Given the description of an element on the screen output the (x, y) to click on. 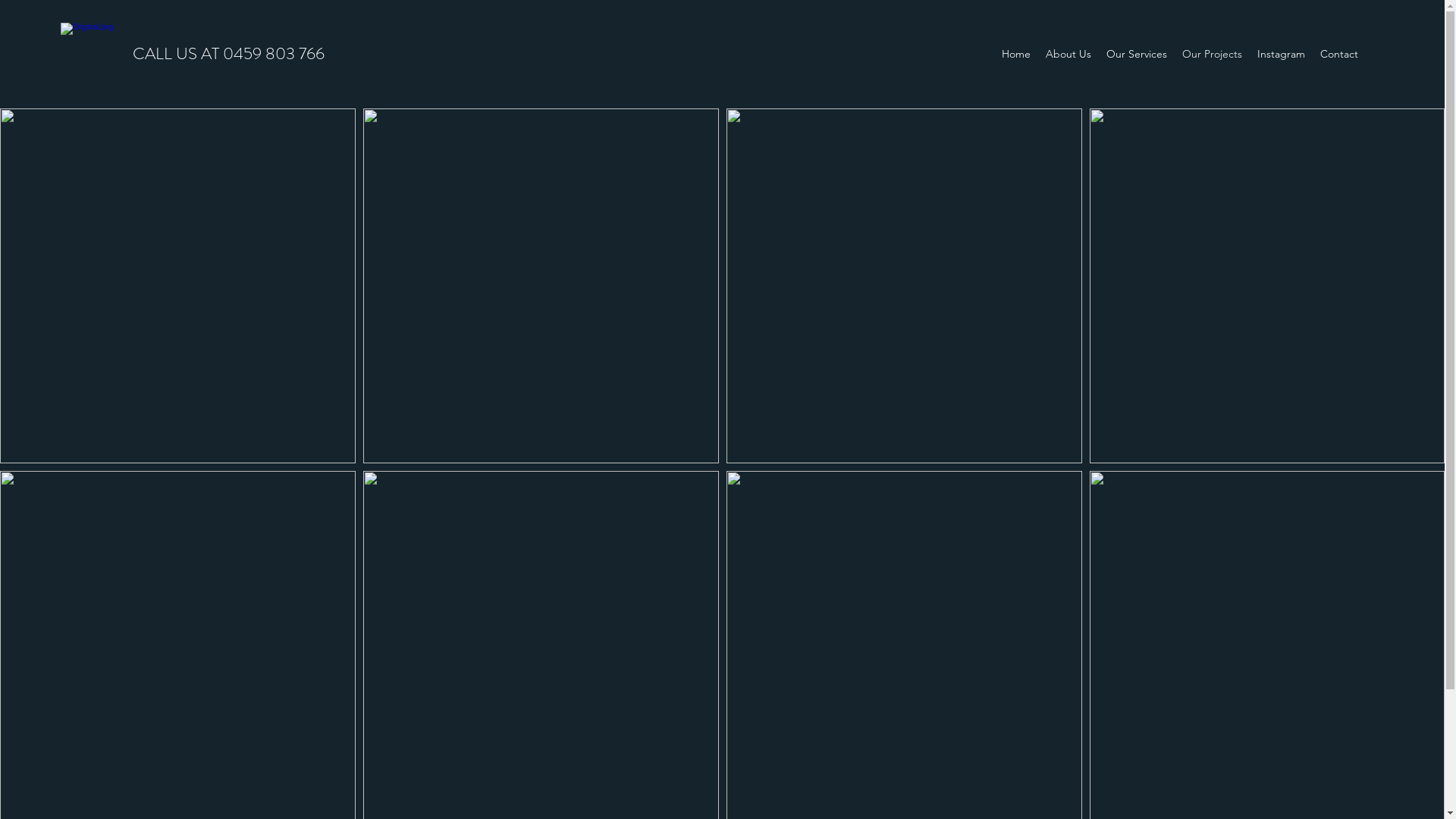
Our Services Element type: text (1136, 53)
Instagram Element type: text (1280, 53)
CALL US AT 0459 803 766 Element type: text (228, 53)
About Us Element type: text (1068, 53)
Home Element type: text (1016, 53)
Contact Element type: text (1338, 53)
Our Projects Element type: text (1211, 53)
